Given the description of an element on the screen output the (x, y) to click on. 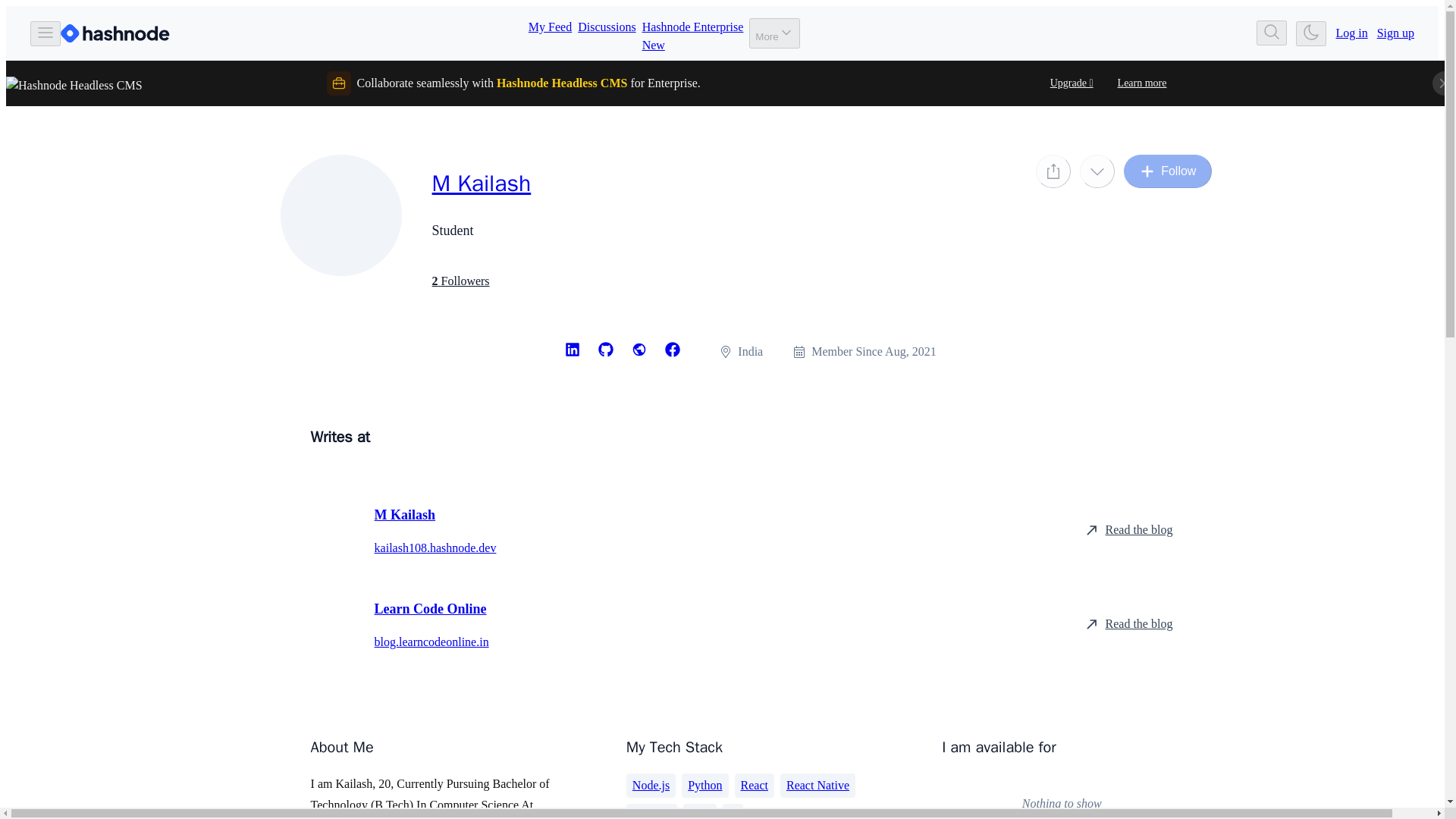
Read the blog (1128, 623)
Learn more (1142, 83)
C (732, 811)
Dismiss (1444, 83)
Log in (1351, 33)
React (754, 785)
Python (693, 33)
Discussions (704, 785)
Toggle dark mode (606, 33)
